Given the description of an element on the screen output the (x, y) to click on. 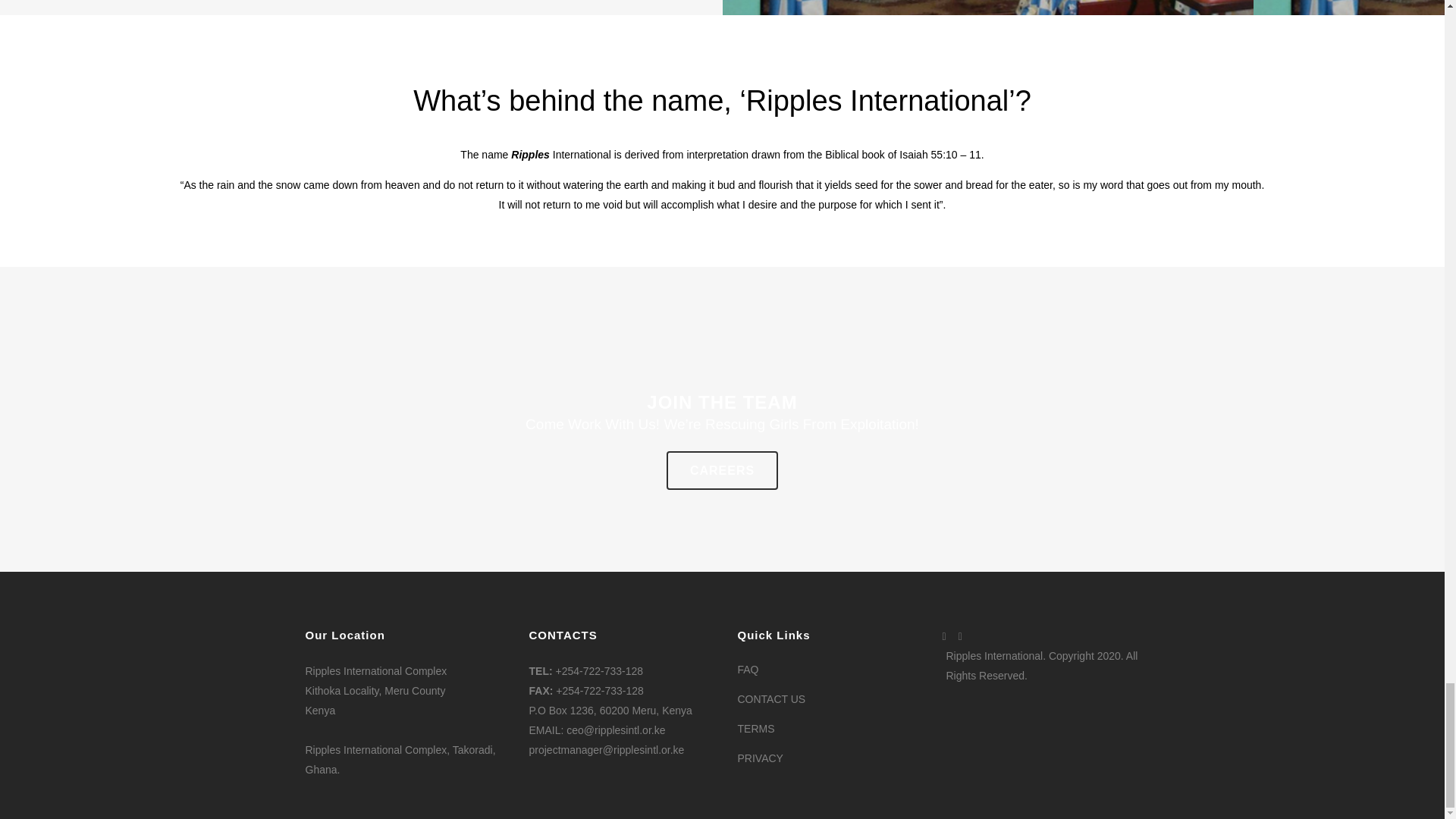
PRIVACY (831, 758)
FAQ (831, 669)
CONTACT US (831, 699)
TERMS (831, 728)
CAREERS (721, 470)
